Given the description of an element on the screen output the (x, y) to click on. 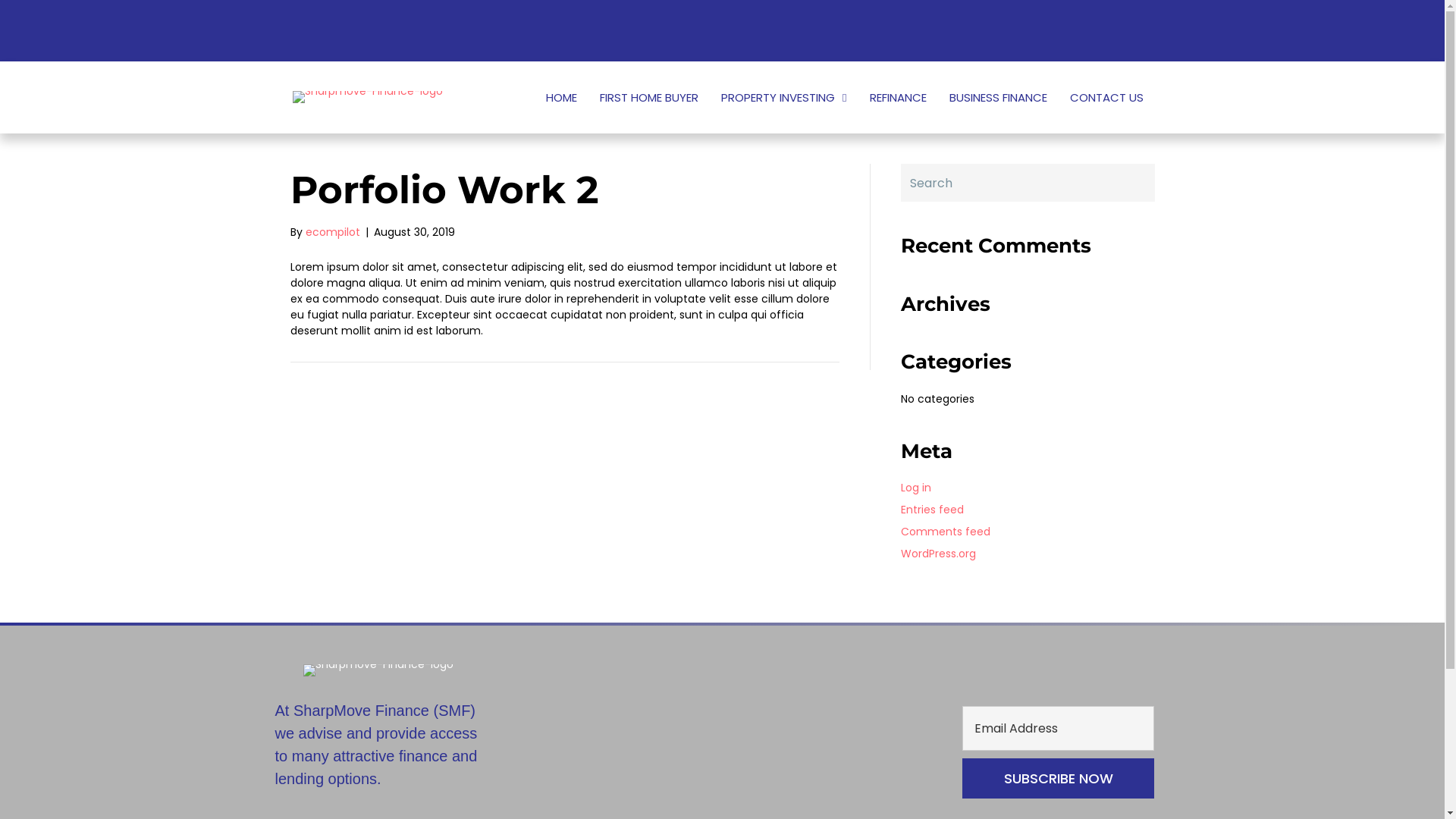
CONTACT US Element type: text (1105, 97)
PROPERTY INVESTING Element type: text (783, 97)
Comments feed Element type: text (945, 531)
Log in Element type: text (915, 487)
FIRST HOME BUYER Element type: text (649, 97)
REFINANCE Element type: text (897, 97)
SUBSCRIBE NOW Element type: text (1058, 778)
Sharpmove-Finance-logo Element type: hover (378, 670)
HOME Element type: text (561, 97)
Entries feed Element type: text (931, 509)
ecompilot Element type: text (331, 231)
Type and press Enter to search. Element type: hover (1027, 182)
WordPress.org Element type: text (937, 553)
BUSINESS FINANCE Element type: text (997, 97)
Sharpmove-Finance-logo Element type: hover (367, 97)
